Given the description of an element on the screen output the (x, y) to click on. 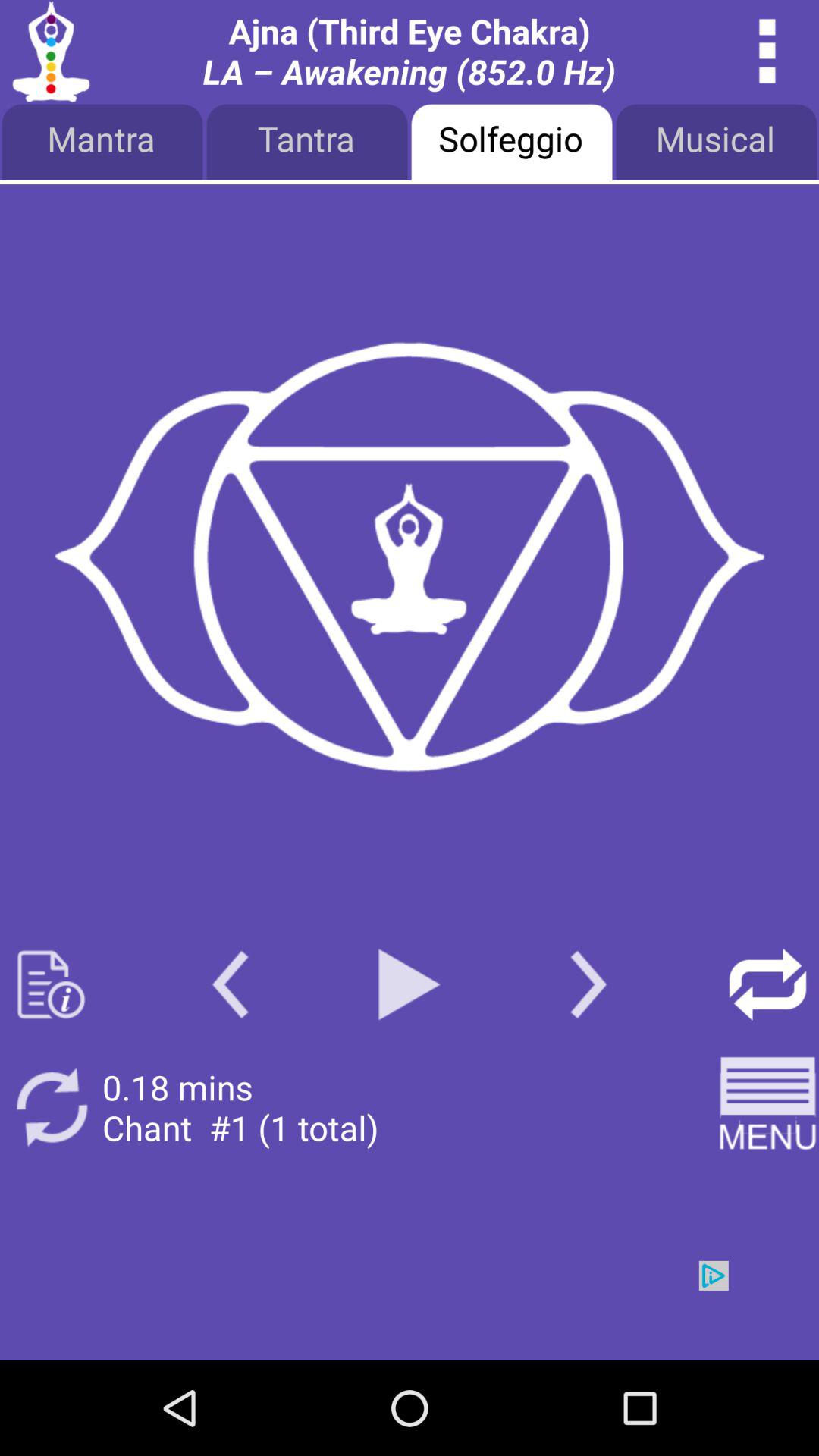
menu page (408, 558)
